Given the description of an element on the screen output the (x, y) to click on. 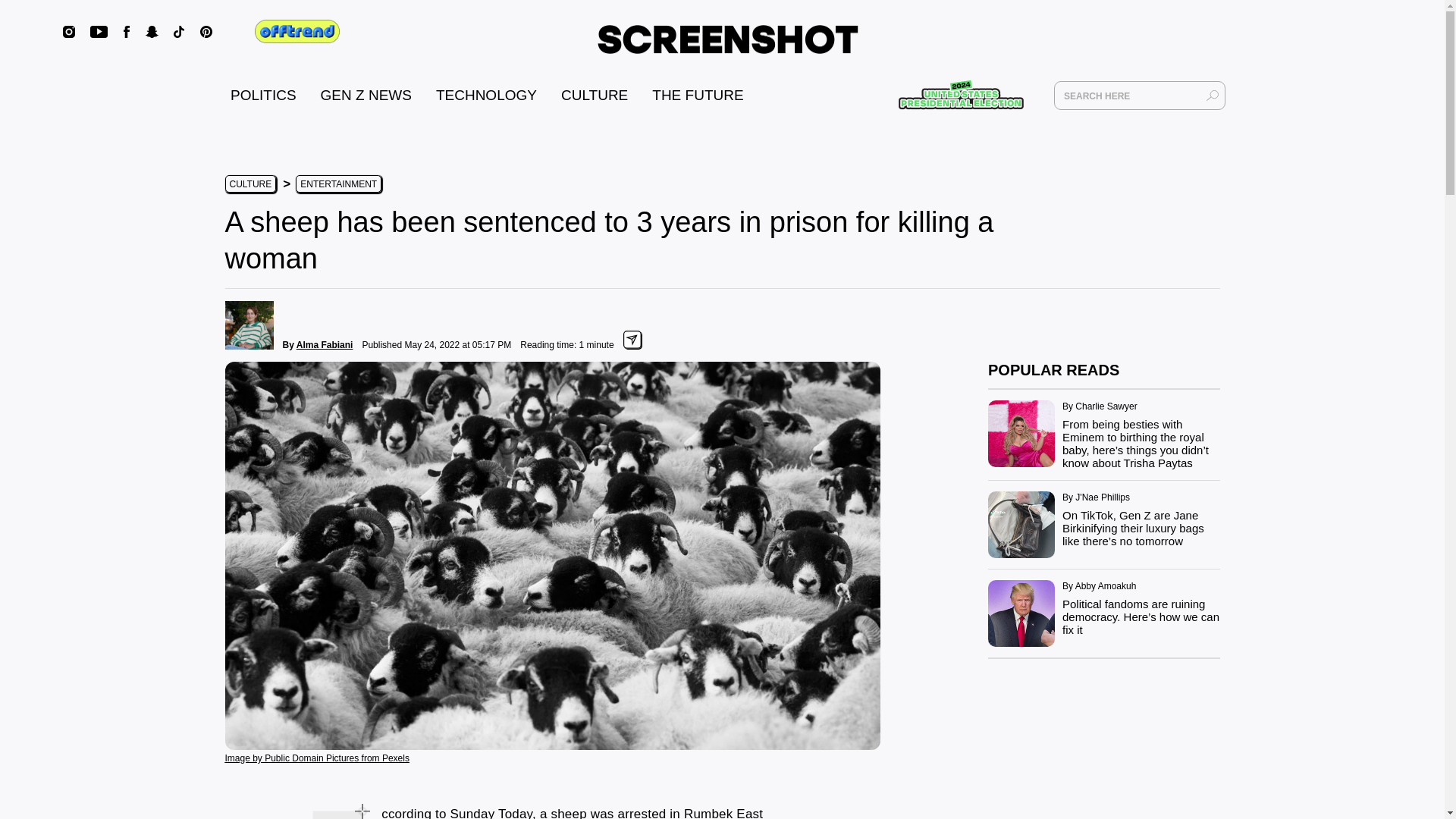
ENTERTAINMENT (338, 184)
Image by Public Domain Pictures from Pexels (316, 757)
GEN Z NEWS (366, 94)
CULTURE (249, 184)
POLITICS (263, 94)
TECHNOLOGY (486, 94)
THE FUTURE (697, 94)
CULTURE (593, 94)
Alma Fabiani (325, 344)
